Given the description of an element on the screen output the (x, y) to click on. 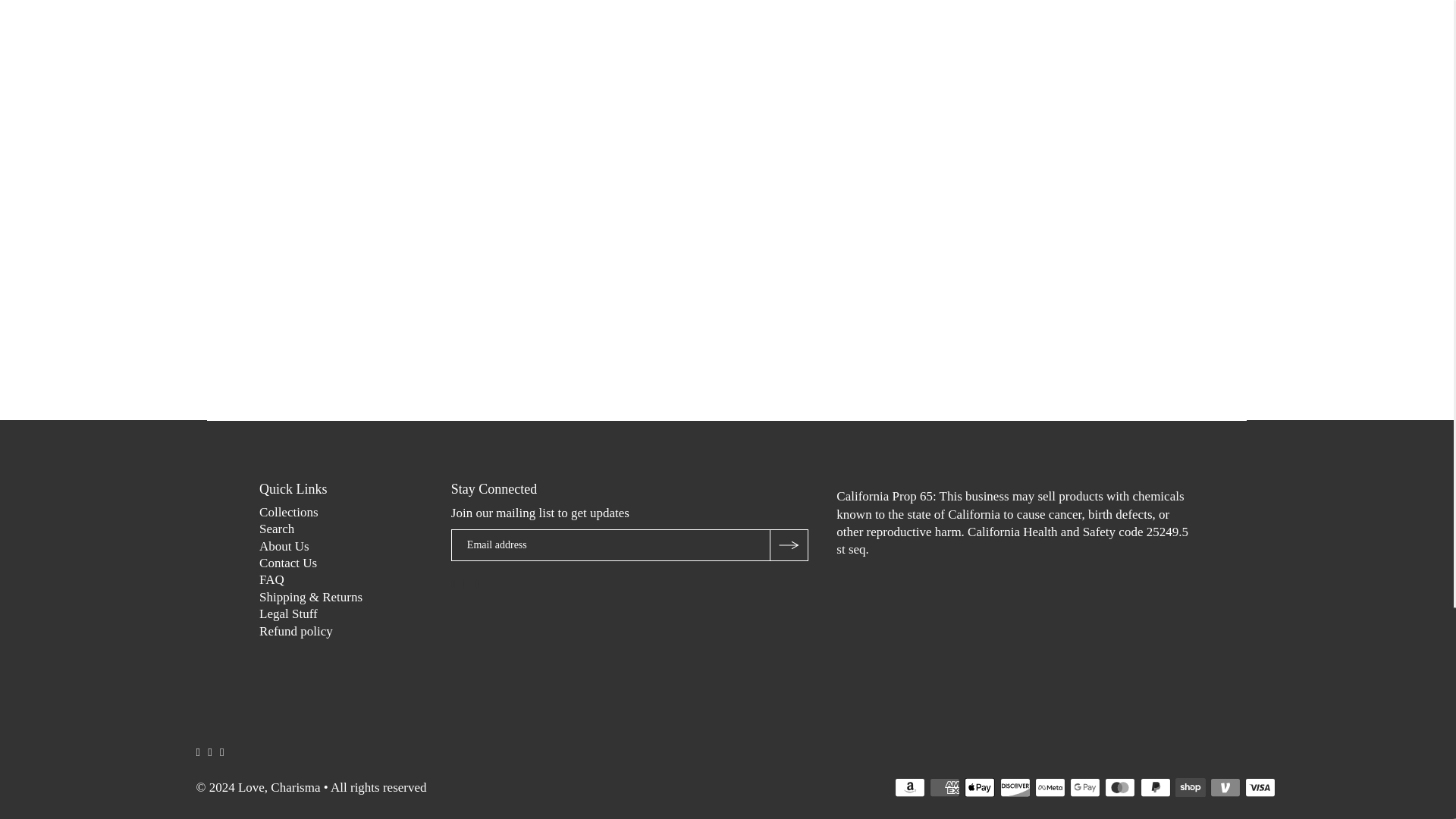
Visa (1259, 787)
Mastercard (1120, 787)
Discover (1015, 787)
Meta Pay (1050, 787)
Google Pay (1085, 787)
Amazon (909, 787)
American Express (944, 787)
Apple Pay (978, 787)
Venmo (1224, 787)
Shop Pay (1189, 787)
